Given the description of an element on the screen output the (x, y) to click on. 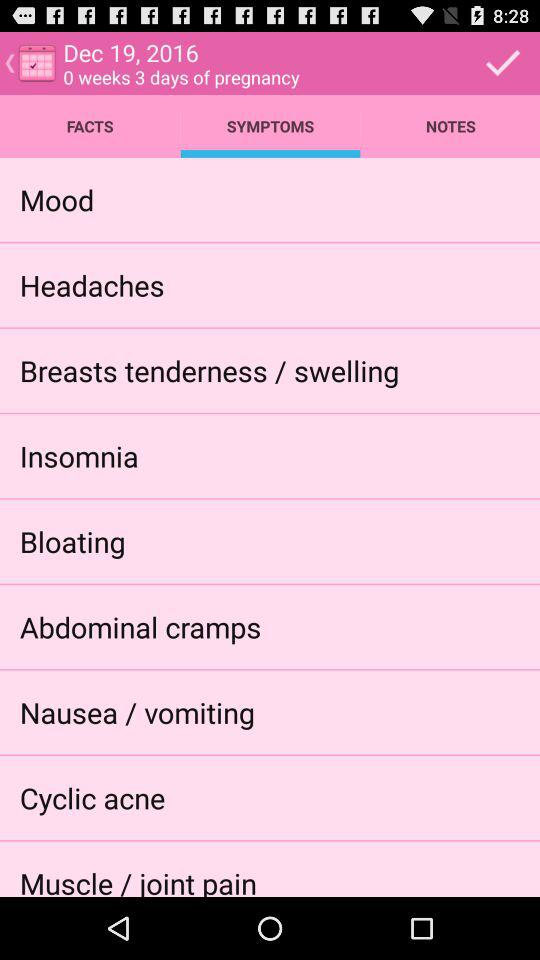
go to the select icon at the top (503, 63)
select the calendar icon which is on the top left (36, 62)
click on option next to facts (270, 126)
